Given the description of an element on the screen output the (x, y) to click on. 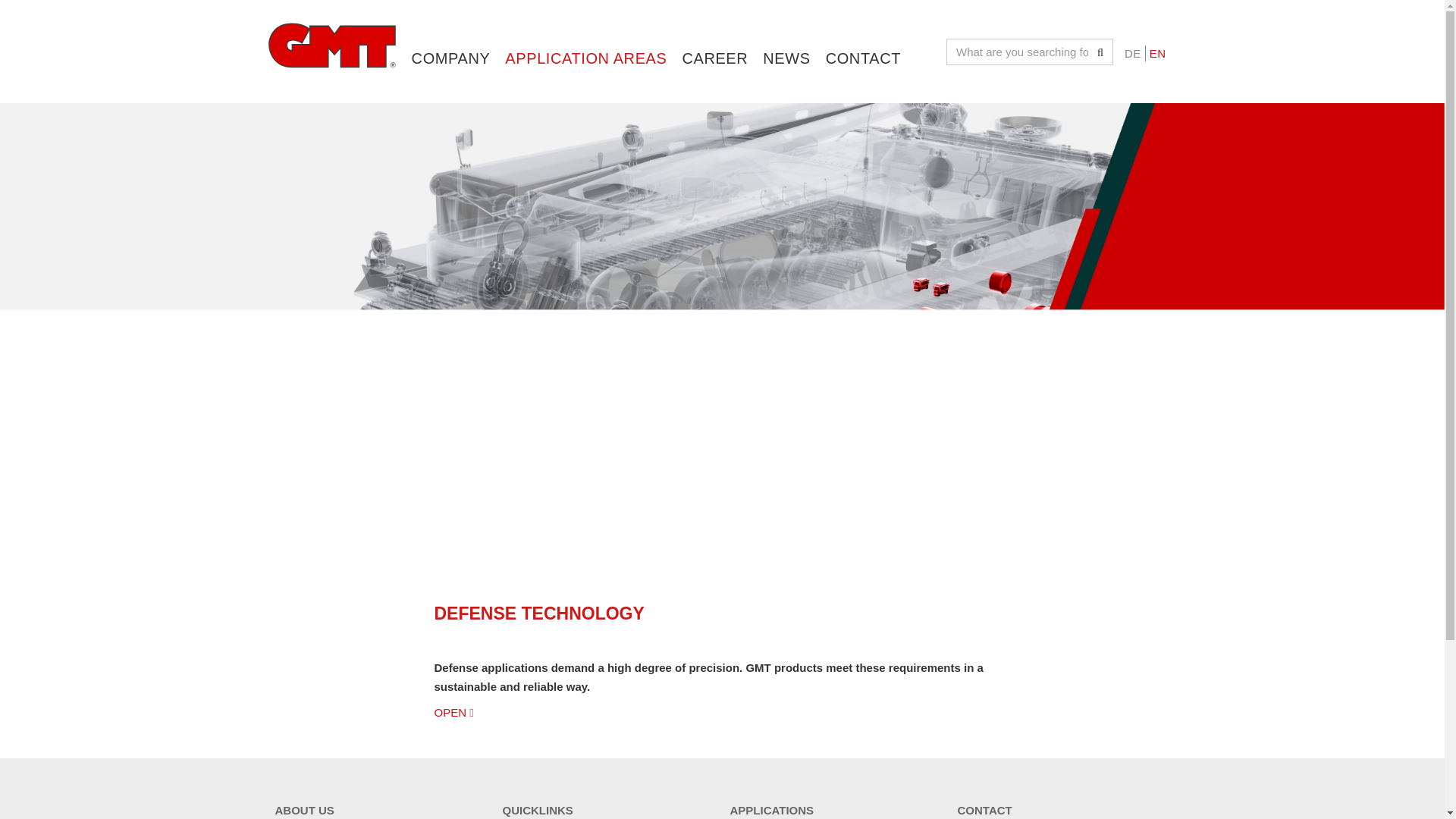
CONTACT (863, 33)
EN (1157, 53)
DE (1133, 53)
CAREER (714, 33)
APPLICATION AREAS (585, 33)
COMPANY (450, 33)
OPEN (453, 712)
NEWS (785, 33)
zur Startseite (331, 44)
